Given the description of an element on the screen output the (x, y) to click on. 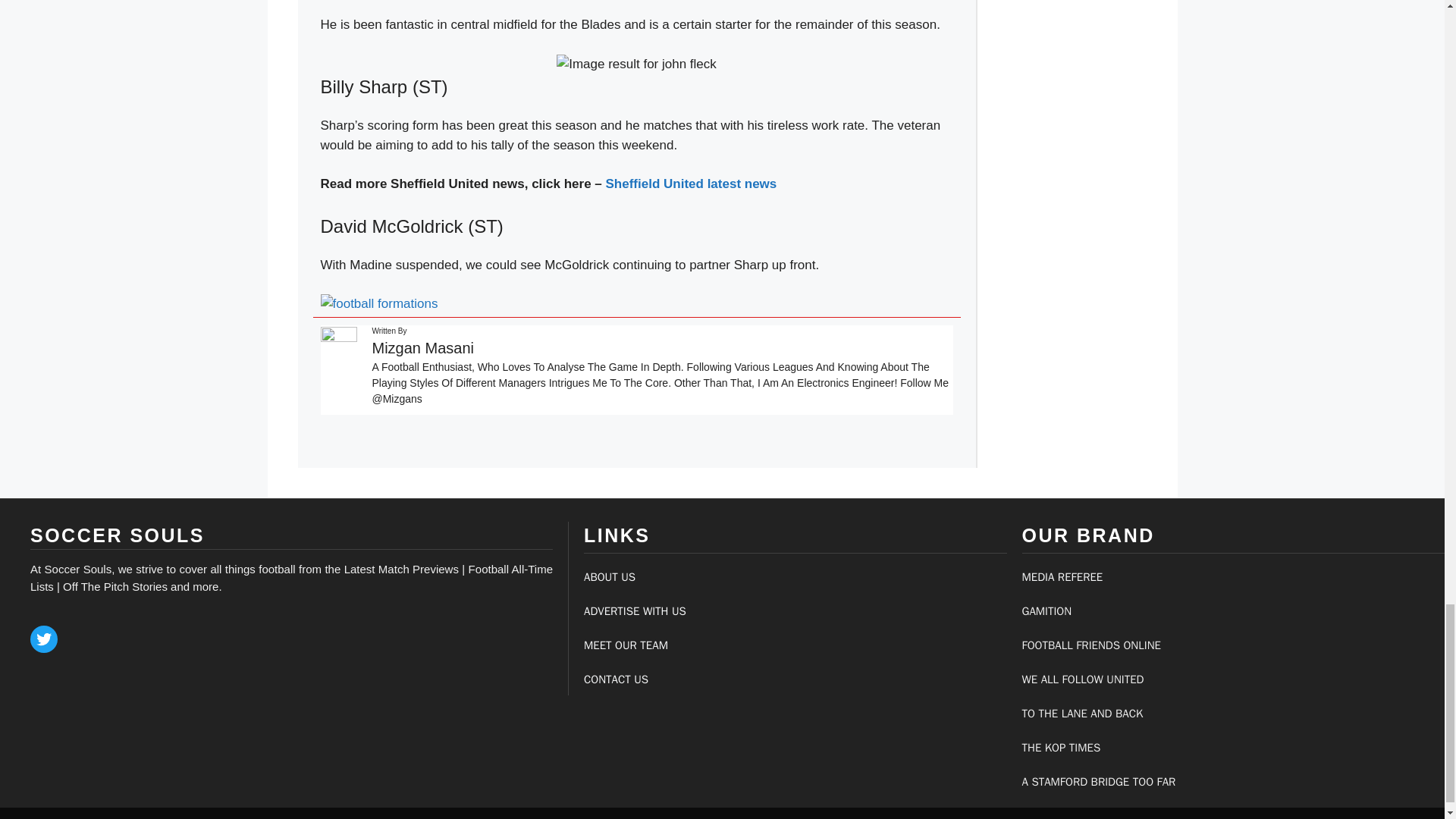
Sheffield United latest news (691, 183)
MEET OUR TEAM (625, 644)
TO THE LANE AND BACK (1082, 713)
Twitter (44, 638)
MEDIA REFEREE (1062, 576)
ABOUT US (608, 576)
FOOTBALL FRIENDS ONLINE (1091, 644)
ADVERTISE WITH US (634, 611)
GAMITION (1046, 611)
Mizgan Masani (422, 347)
WE ALL FOLLOW UNITED (1083, 679)
CONTACT US (615, 679)
A STAMFORD BRIDGE TOO FAR (1099, 781)
THE KOP TIMES (1061, 747)
